Given the description of an element on the screen output the (x, y) to click on. 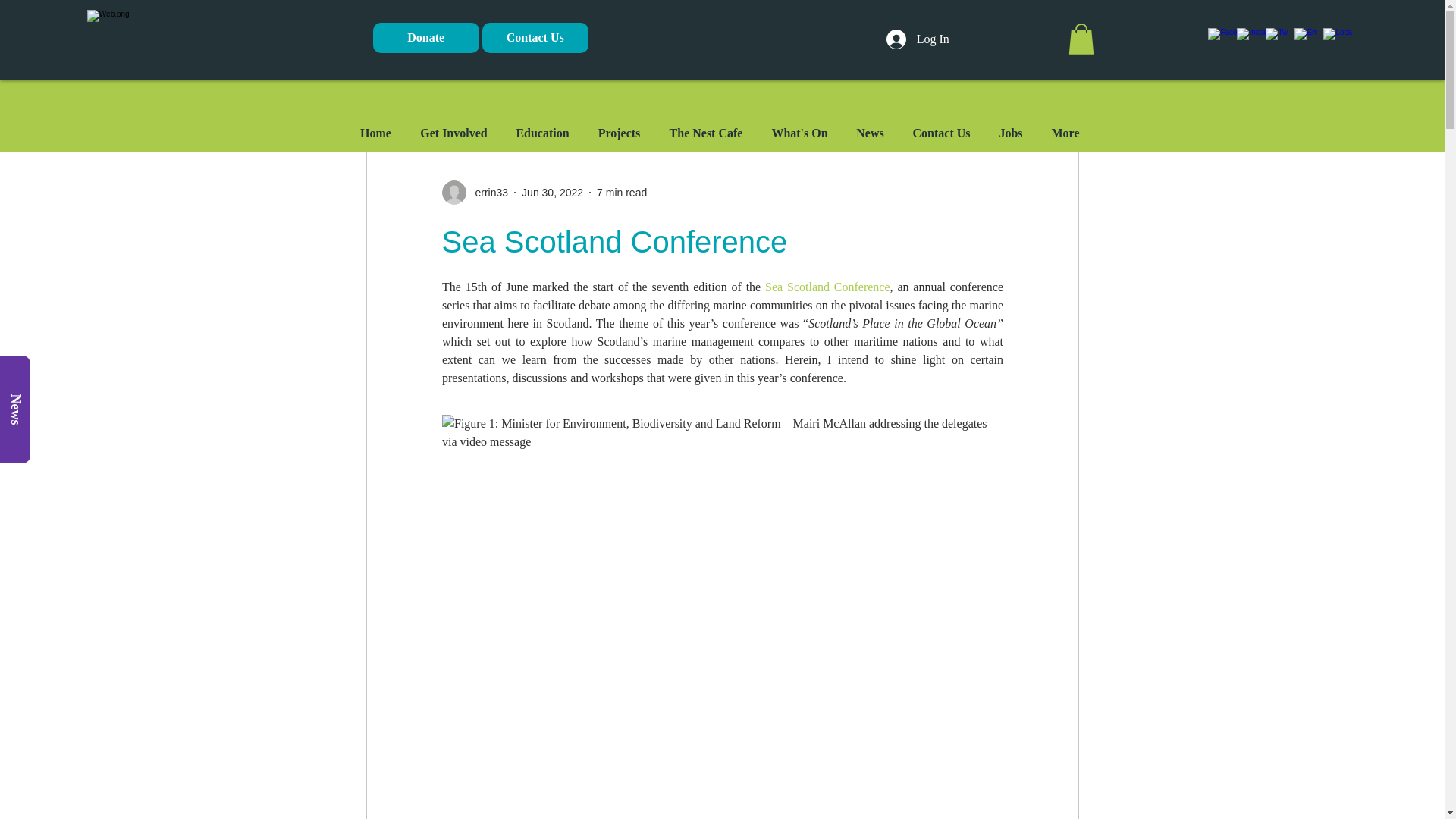
Sea Scotland Conference (827, 286)
errin33 (474, 192)
Education (542, 133)
Donate (425, 37)
News (53, 370)
Home (376, 133)
Contact Us (534, 37)
errin33 (486, 192)
Jun 30, 2022 (552, 192)
Log In (917, 39)
